Given the description of an element on the screen output the (x, y) to click on. 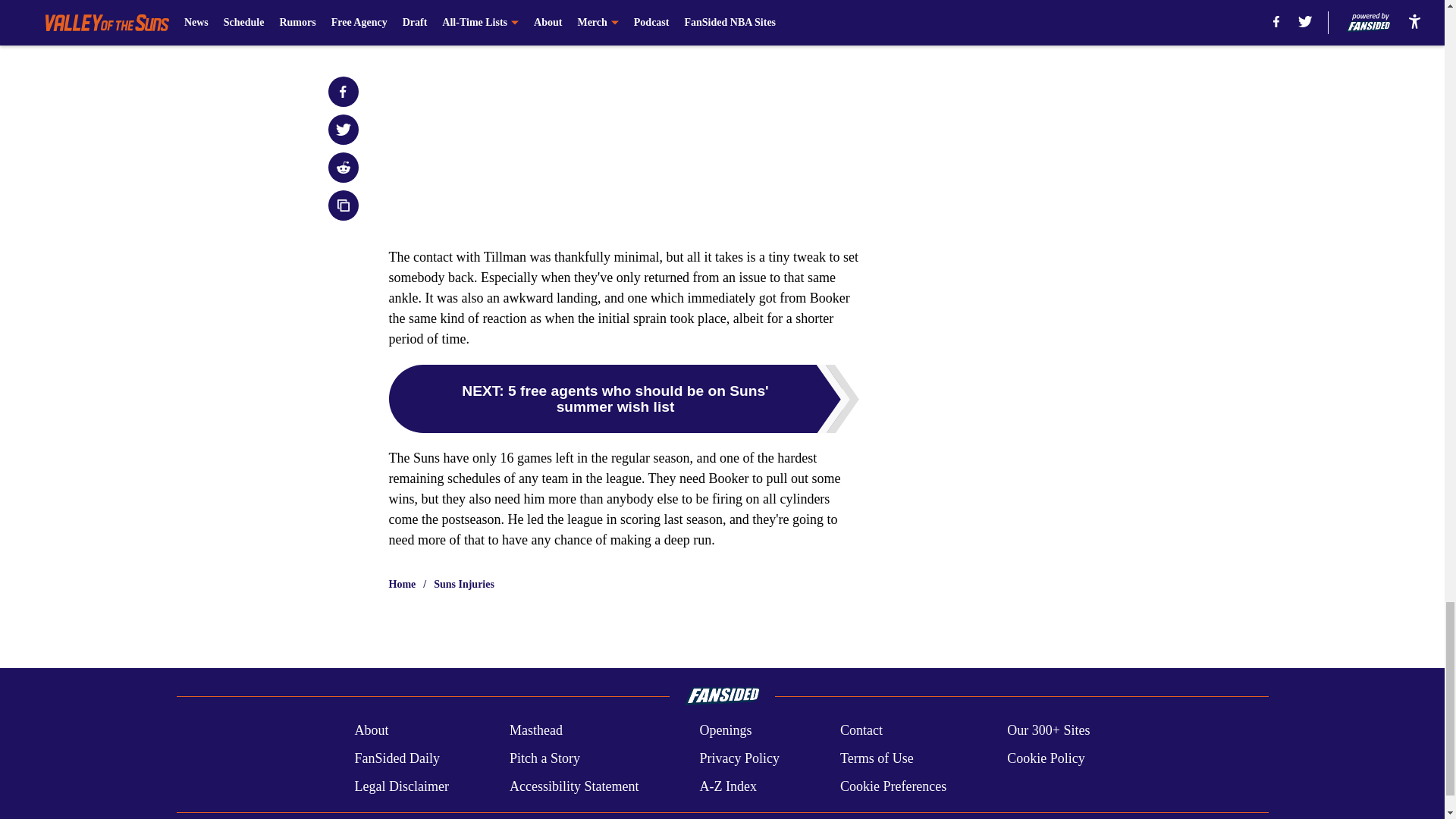
NEXT: 5 free agents who should be on Suns' summer wish list (623, 398)
Suns Injuries (464, 584)
Home (401, 584)
